Given the description of an element on the screen output the (x, y) to click on. 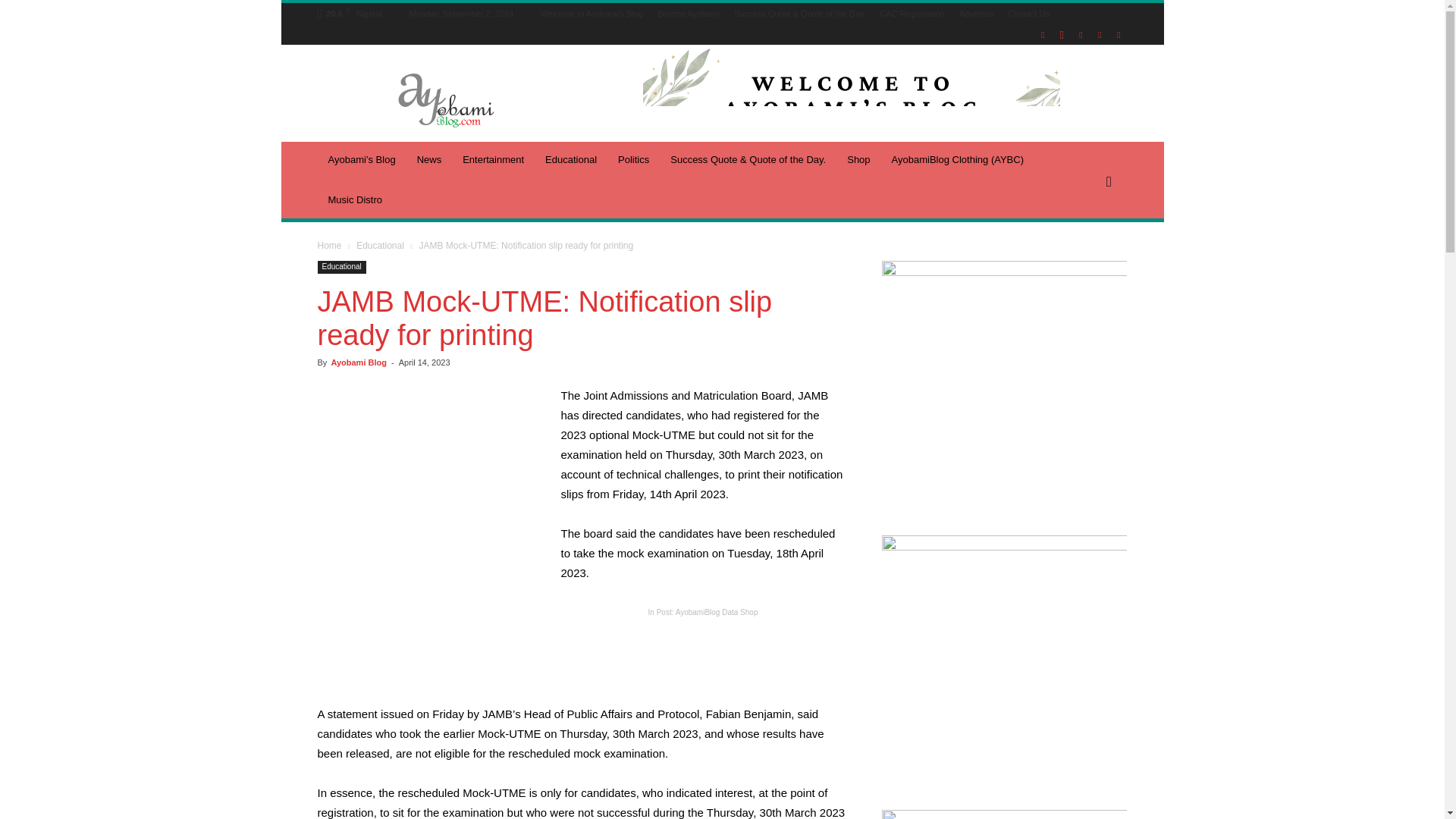
News (429, 159)
CAC Registration (912, 13)
Advertise (976, 13)
Contact Us (1029, 13)
View all posts in Educational (381, 245)
Bolmos Ayobami (688, 13)
